Given the description of an element on the screen output the (x, y) to click on. 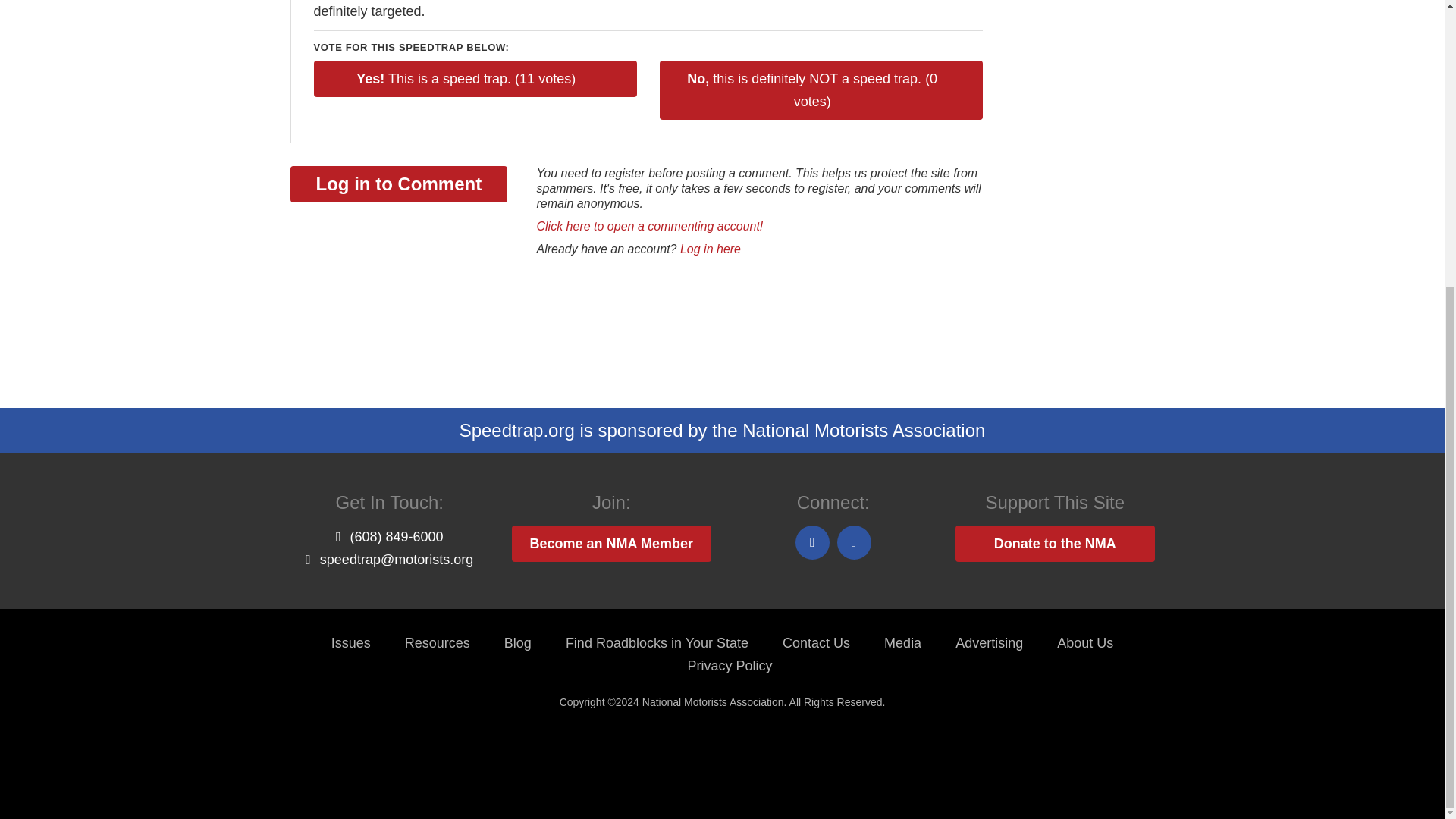
Advertisement (565, 328)
